Given the description of an element on the screen output the (x, y) to click on. 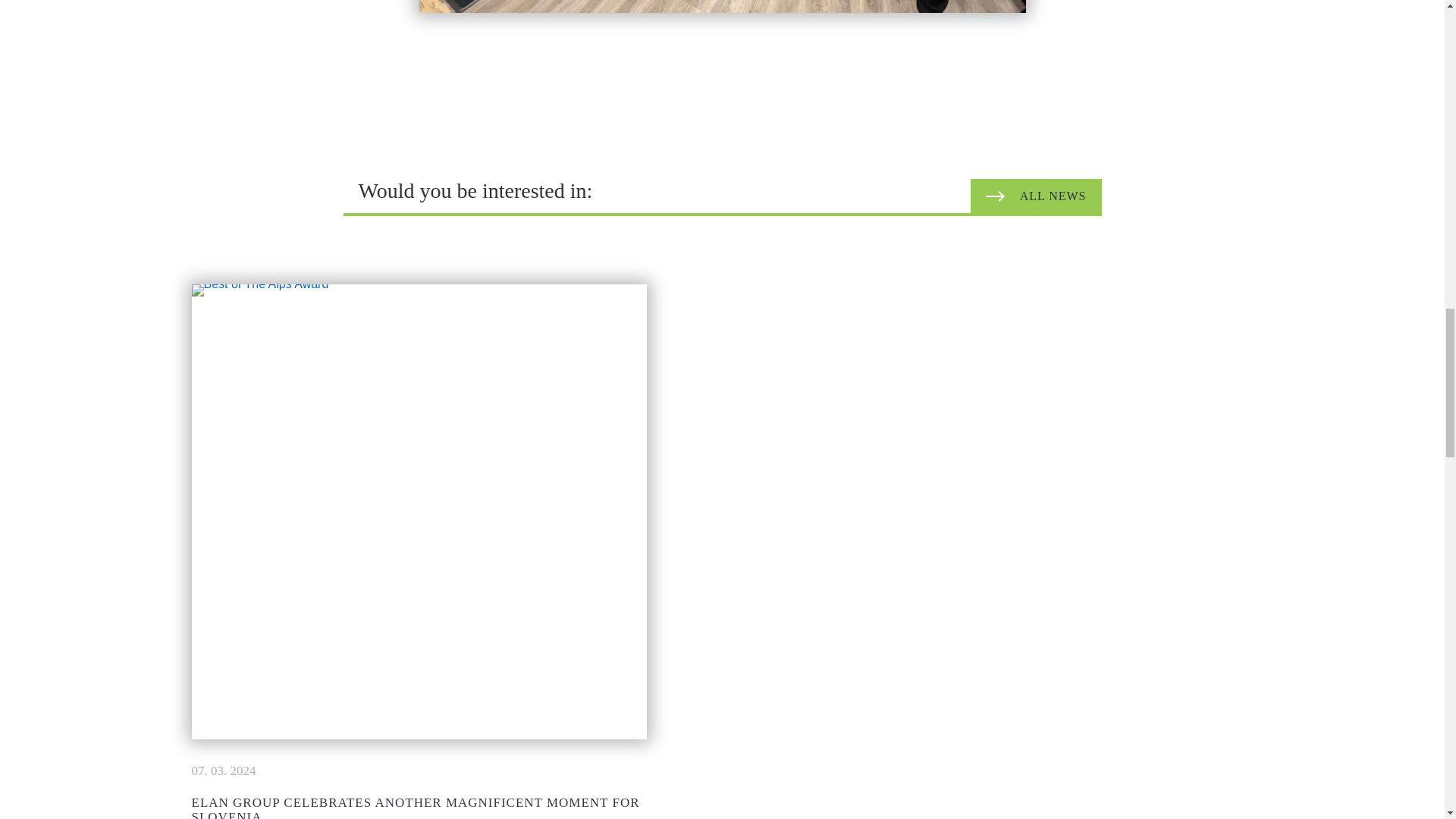
ALL NEWS (1036, 195)
